Given the description of an element on the screen output the (x, y) to click on. 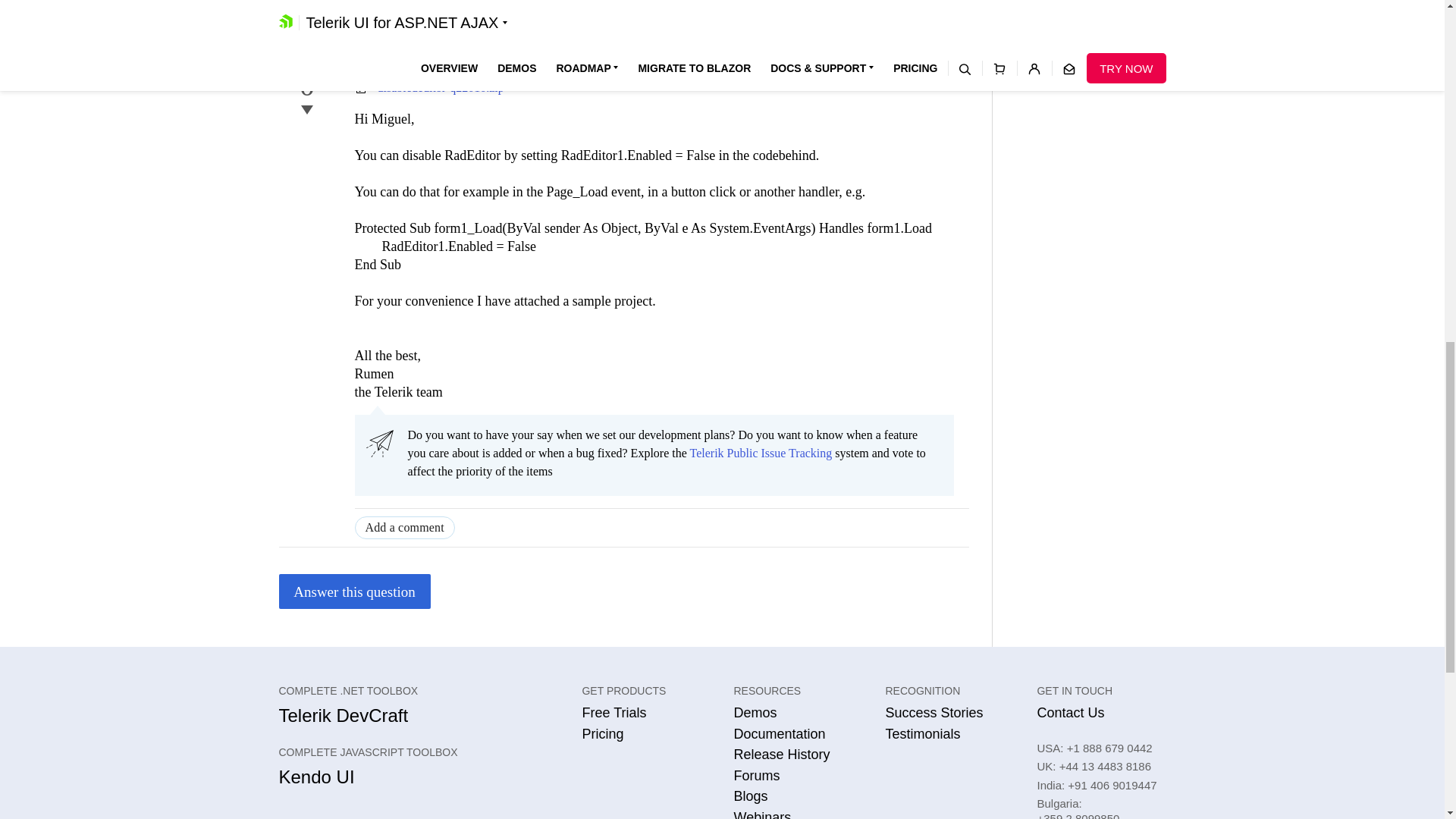
This answer is not helpful. (306, 109)
This answer is helpful. (306, 60)
